Given the description of an element on the screen output the (x, y) to click on. 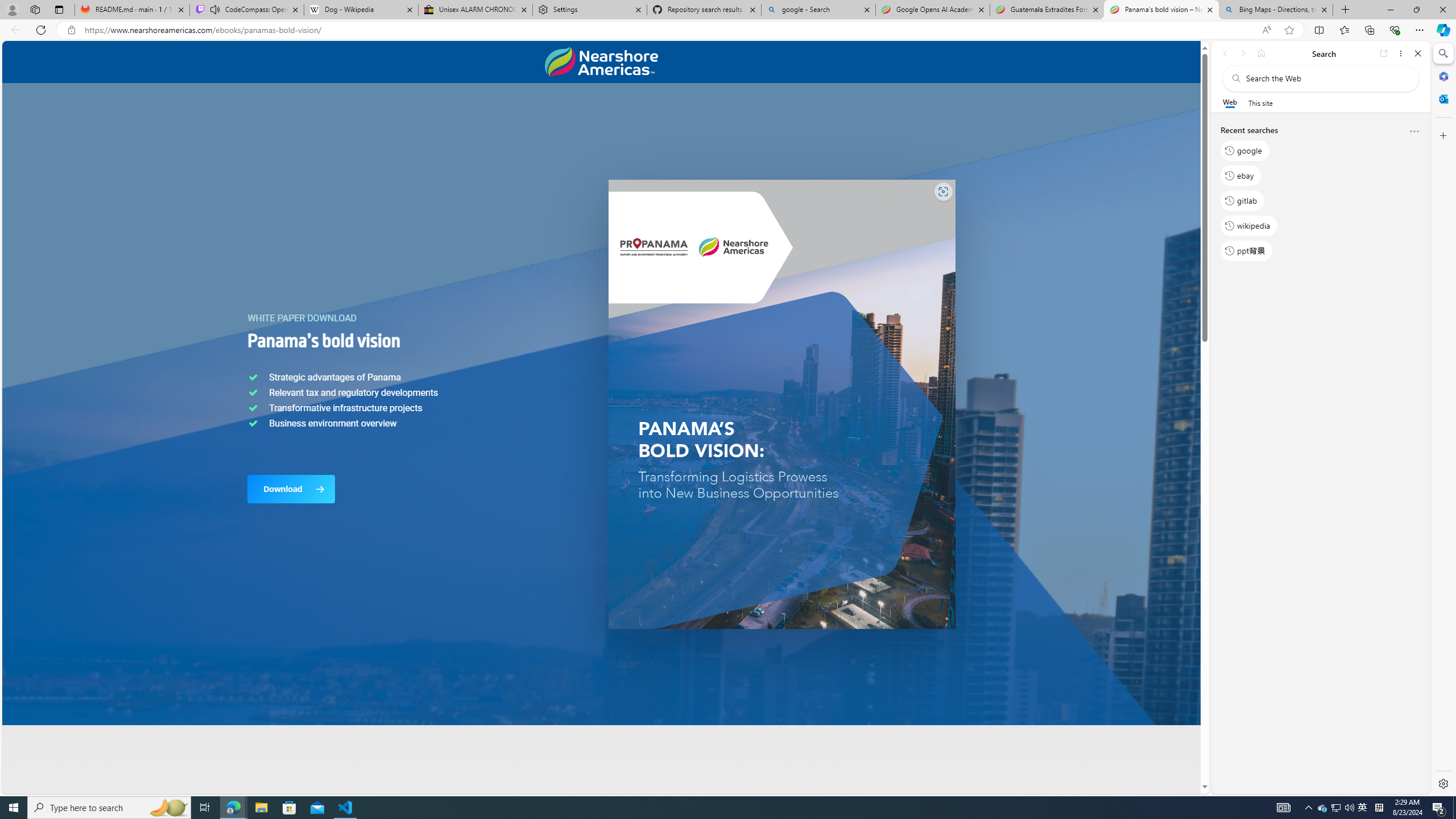
Google Opens AI Academy for Startups - Nearshore Americas (932, 9)
gitlab (1242, 200)
ebay (1240, 175)
Mute tab (215, 8)
wikipedia (1249, 225)
